Given the description of an element on the screen output the (x, y) to click on. 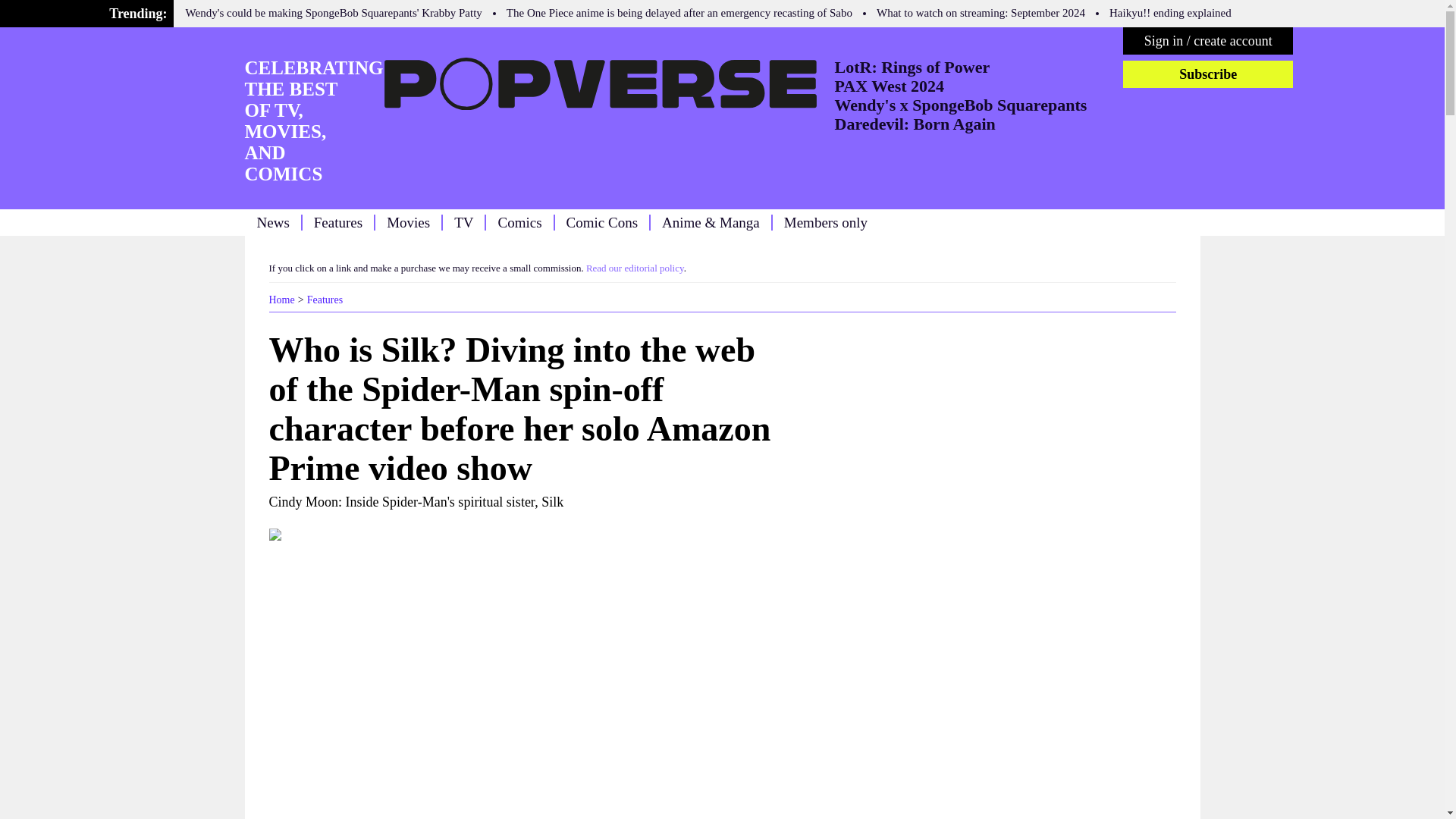
Daredevil: Born Again (914, 123)
Comics (519, 222)
Wendy's could be making SpongeBob Squarepants' Krabby Patty (333, 12)
What to watch on streaming: September 2024 (980, 12)
Features (324, 299)
Subscribe (1207, 73)
Home (280, 299)
News (272, 222)
PAX West 2024 (888, 85)
